Given the description of an element on the screen output the (x, y) to click on. 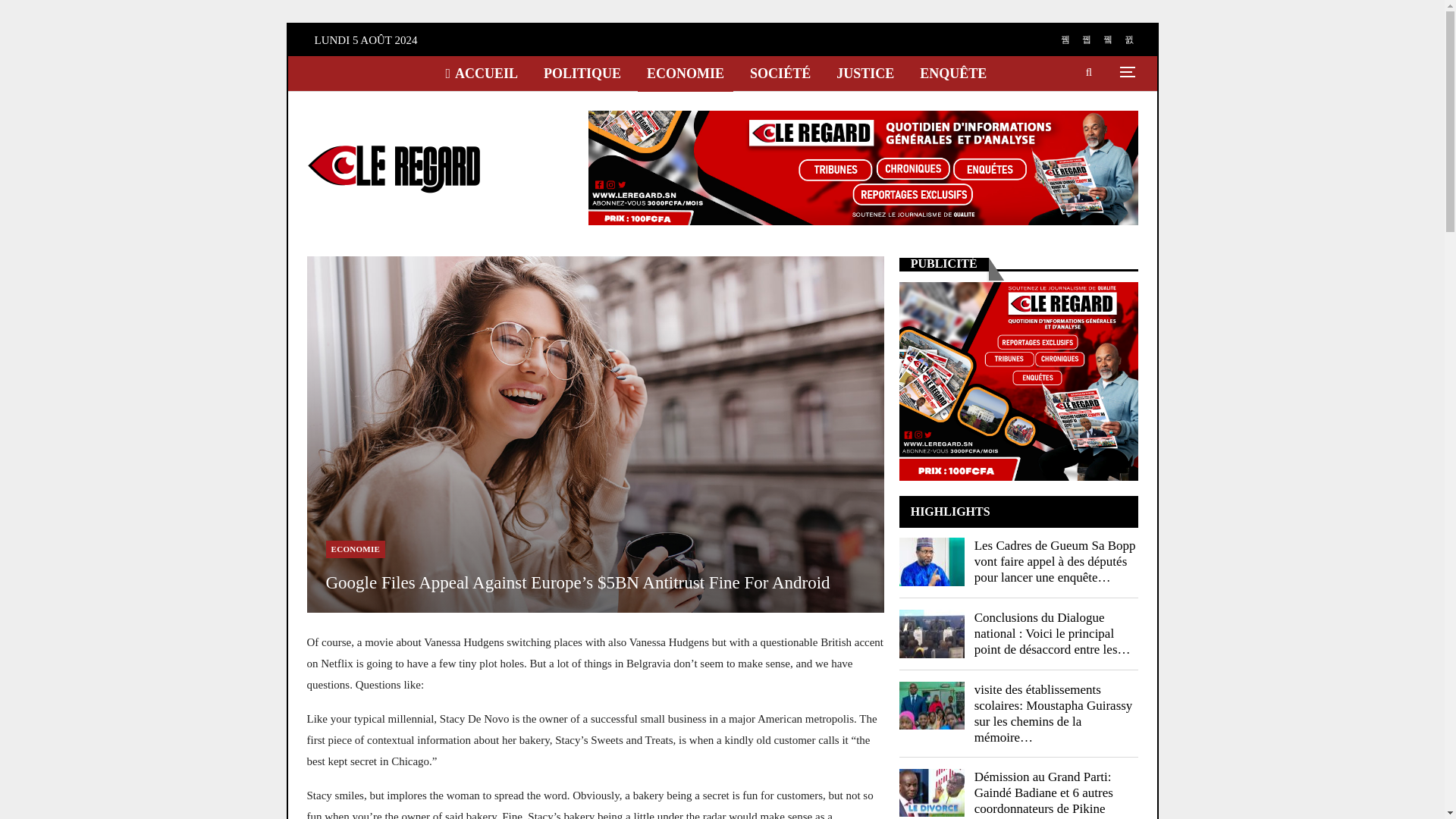
POLITIQUE (582, 73)
ECONOMIE (355, 548)
ACCUEIL (481, 73)
ECONOMIE (685, 73)
SPORTS (562, 109)
CULTURE (477, 109)
JUSTICE (864, 73)
